Given the description of an element on the screen output the (x, y) to click on. 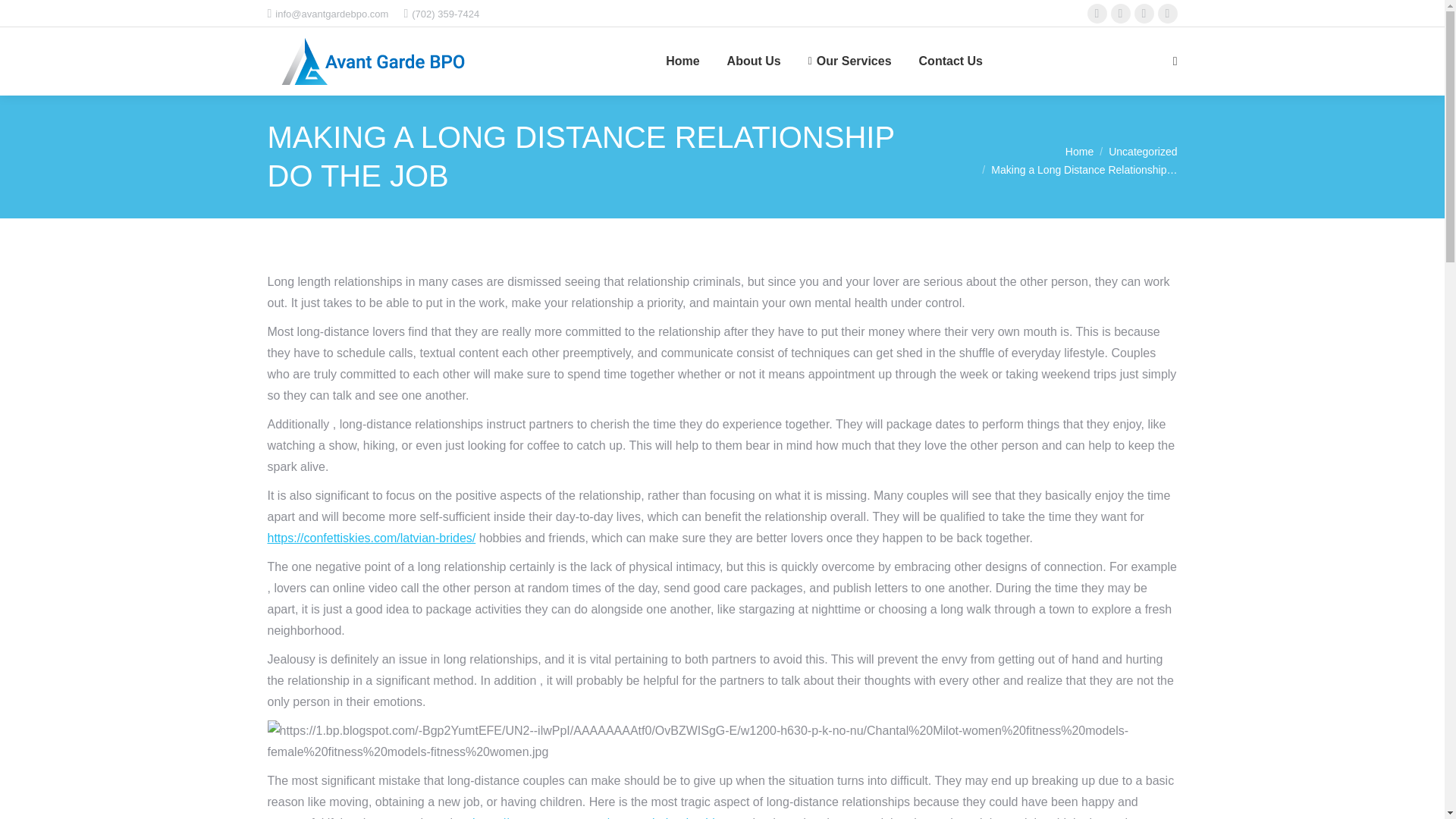
YouTube page opens in new window (1167, 13)
Facebook page opens in new window (1096, 13)
Home (681, 60)
Facebook page opens in new window (1096, 13)
Our Services (850, 60)
Instagram page opens in new window (1144, 13)
Twitter page opens in new window (1120, 13)
Instagram page opens in new window (1144, 13)
Contact Us (950, 60)
Twitter page opens in new window (1120, 13)
YouTube page opens in new window (1167, 13)
About Us (753, 60)
Go! (24, 16)
